Given the description of an element on the screen output the (x, y) to click on. 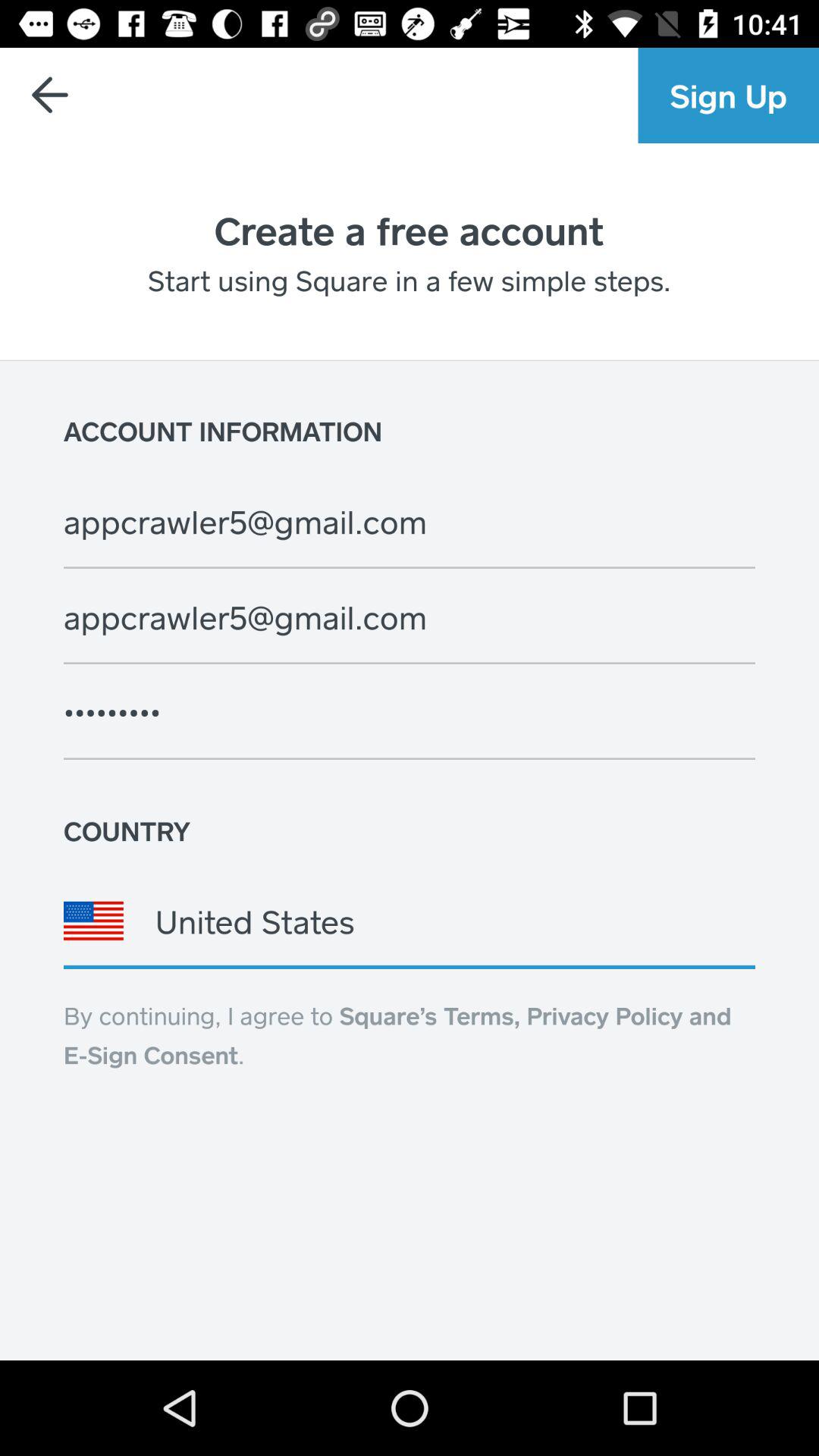
tap the icon below the country icon (409, 921)
